Given the description of an element on the screen output the (x, y) to click on. 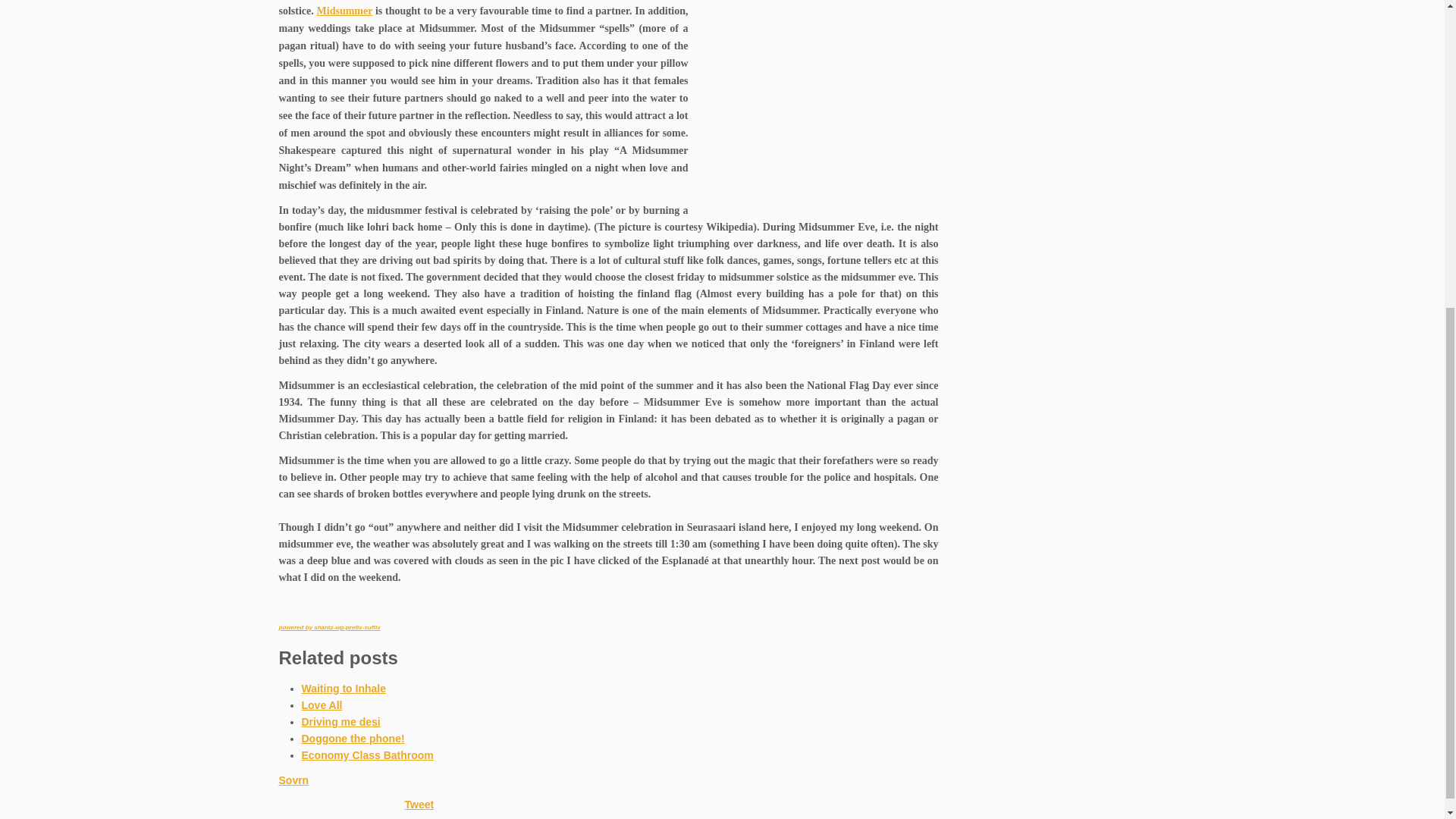
Tweet (418, 804)
powered by shantz-wp-prefix-suffix (329, 627)
Waiting to Inhale (343, 688)
Driving me desi (340, 721)
Doggone the phone! (352, 738)
Economy Class Bathroom (367, 755)
Love All (321, 705)
Midsummer (344, 10)
Sovrn (293, 779)
